Given the description of an element on the screen output the (x, y) to click on. 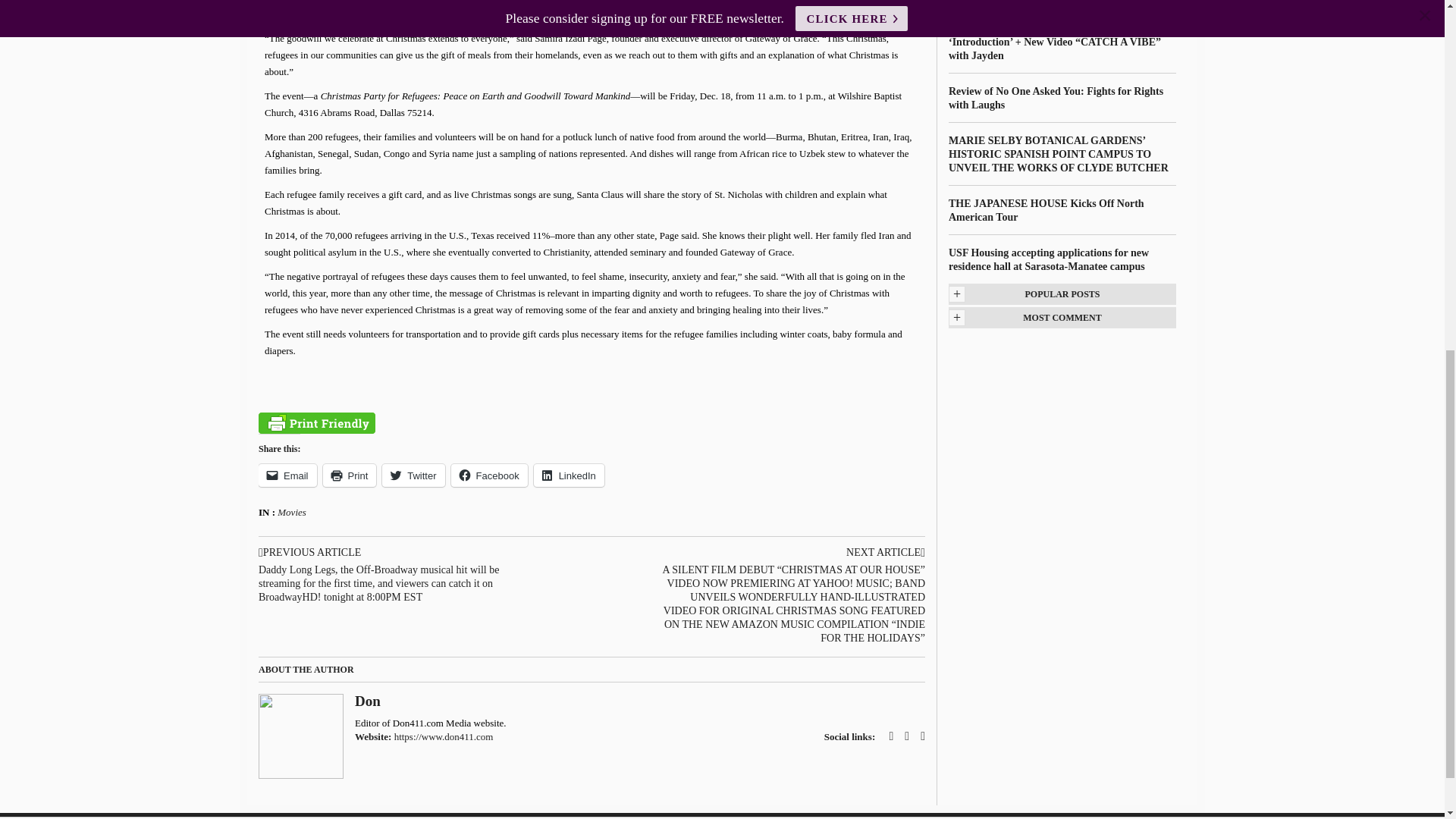
LinkedIn (569, 475)
Click to print (350, 475)
Email (288, 475)
Click to email a link to a friend (288, 475)
Don (367, 700)
Facebook (489, 475)
NEXT ARTICLE (791, 552)
Print (350, 475)
PREVIOUS ARTICLE (392, 552)
Twitter (412, 475)
Click to share on LinkedIn (569, 475)
Click to share on Twitter (412, 475)
Movies (291, 511)
Click to share on Facebook (489, 475)
